Given the description of an element on the screen output the (x, y) to click on. 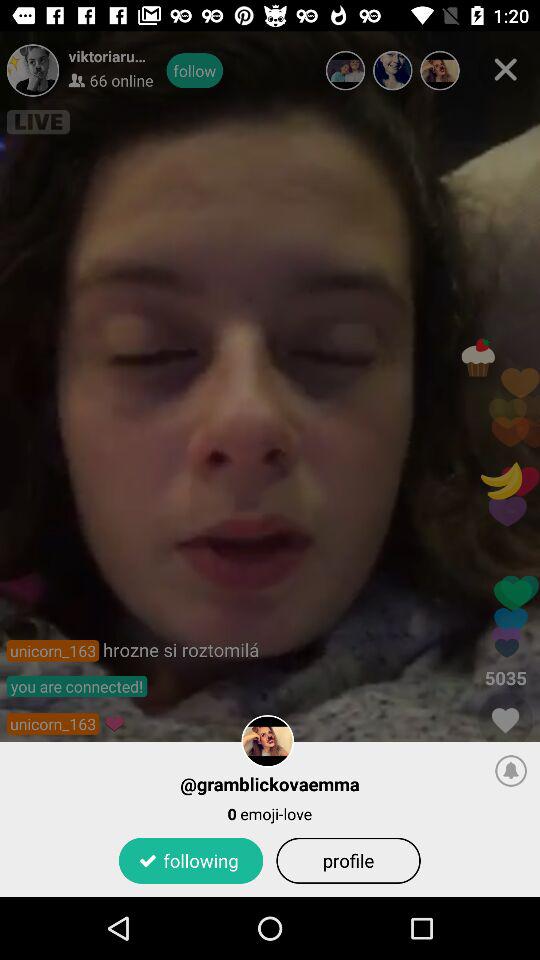
turn on item next to profile (190, 860)
